Given the description of an element on the screen output the (x, y) to click on. 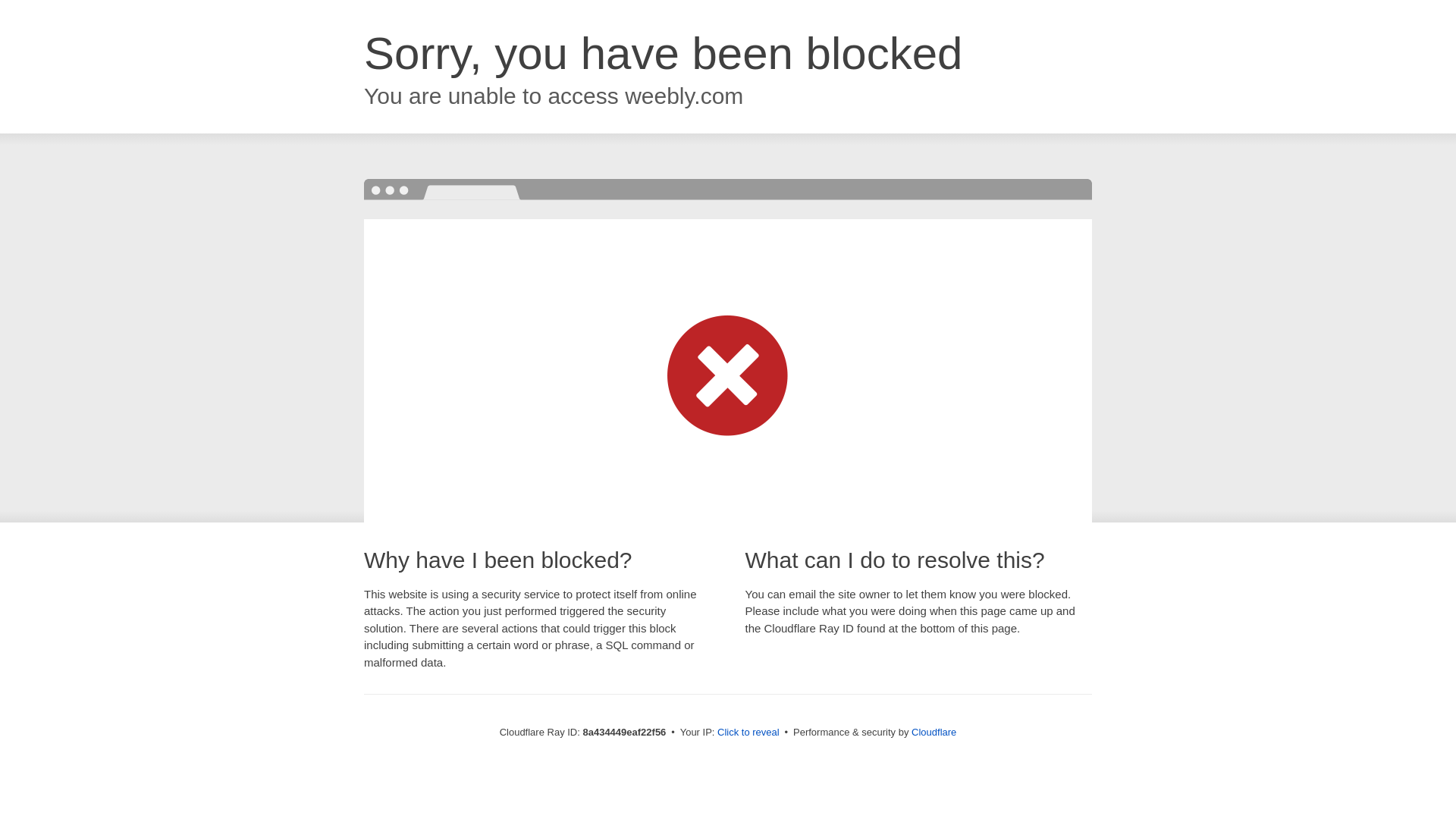
Cloudflare (933, 731)
Click to reveal (747, 732)
